Given the description of an element on the screen output the (x, y) to click on. 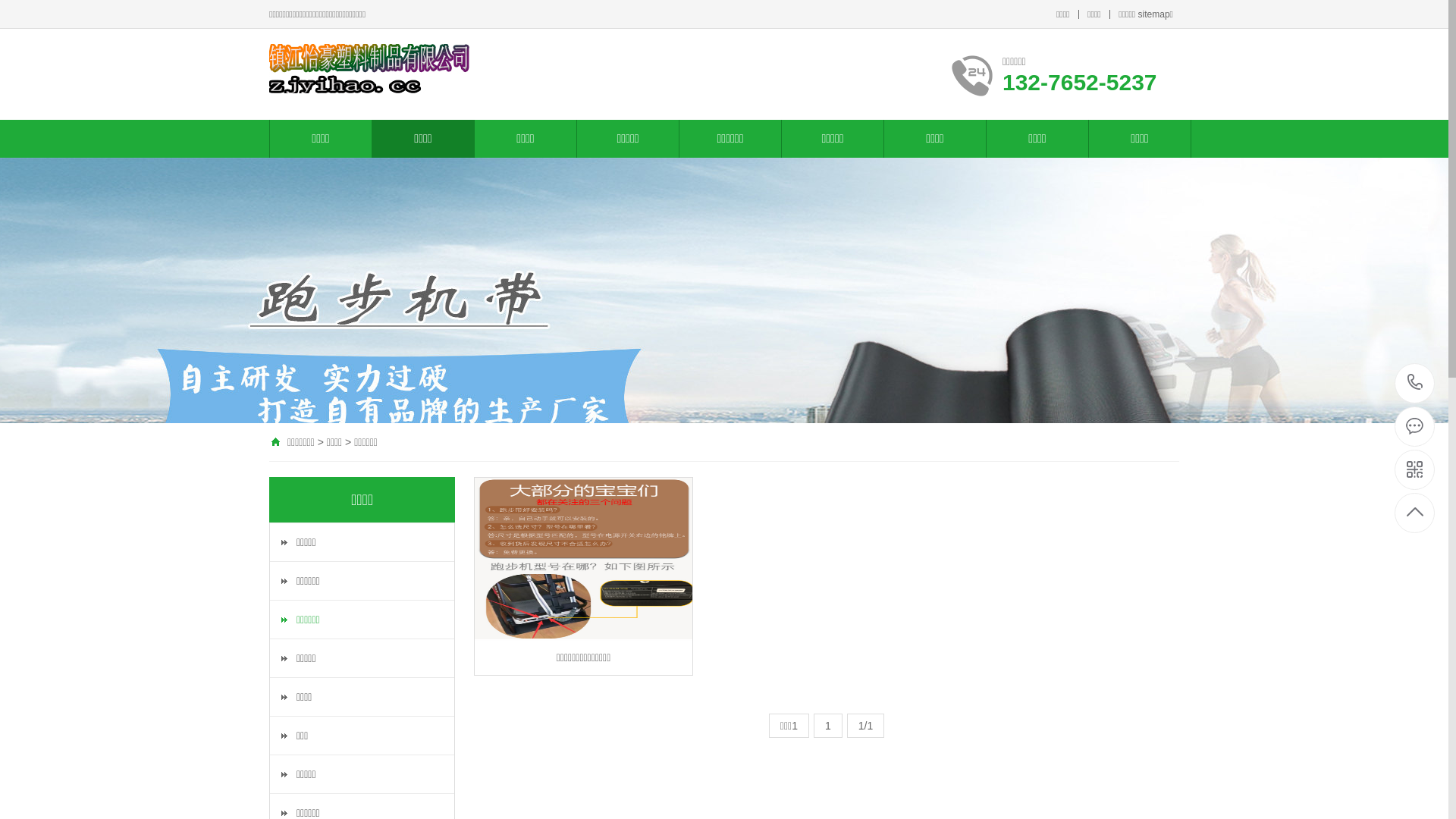
132-7652-5237 Element type: text (1415, 383)
1 Element type: text (827, 725)
sitemap Element type: text (1154, 14)
1/1 Element type: text (865, 725)
